Given the description of an element on the screen output the (x, y) to click on. 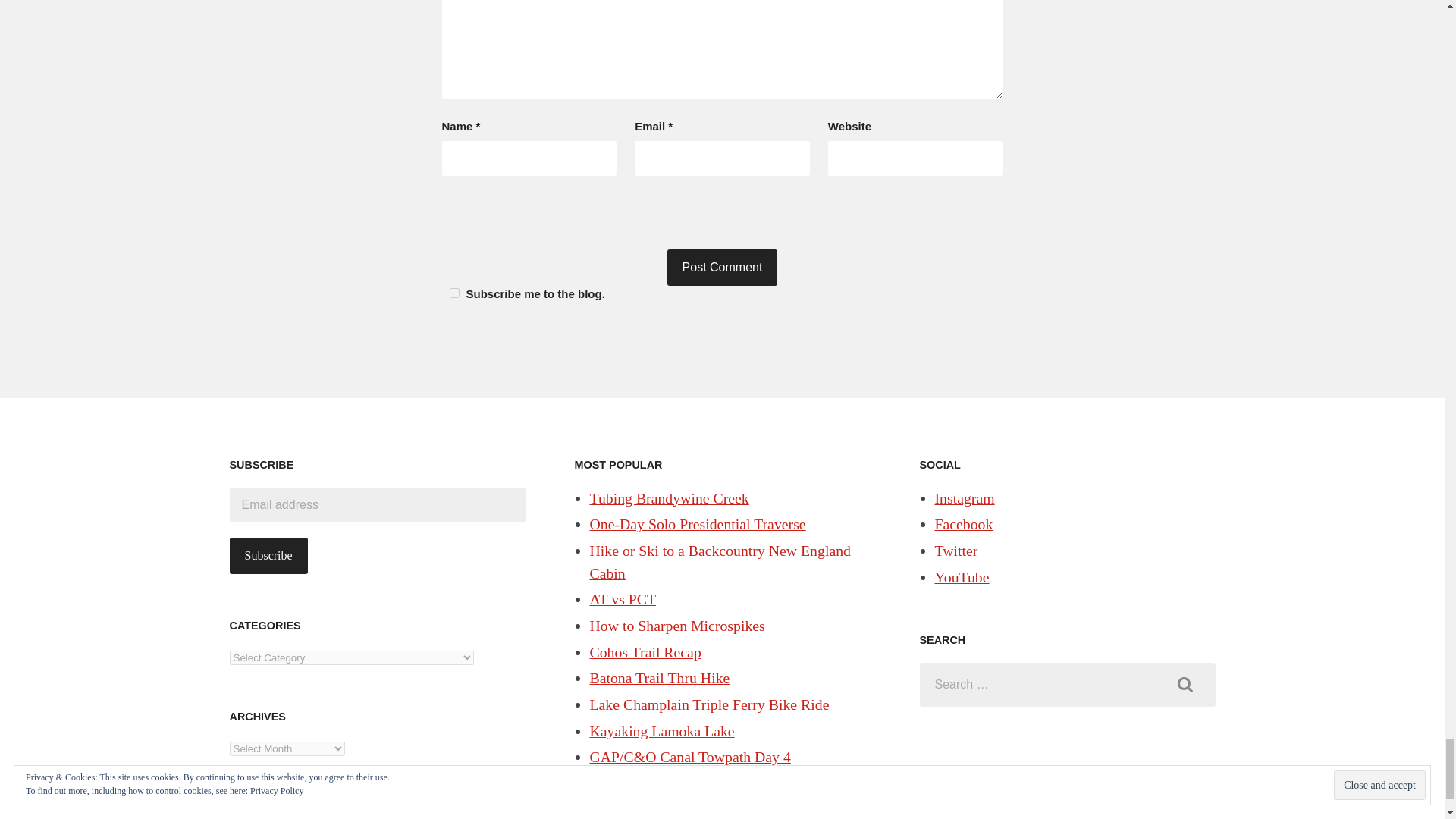
Hike or Ski to a Backcountry New England Cabin (719, 561)
1 (453, 293)
One-Day Solo Presidential Traverse (697, 523)
Search (1184, 684)
Post Comment (721, 267)
Tubing Brandywine Creek (669, 497)
Subscribe (267, 555)
Email address (376, 504)
Search (1184, 684)
